Given the description of an element on the screen output the (x, y) to click on. 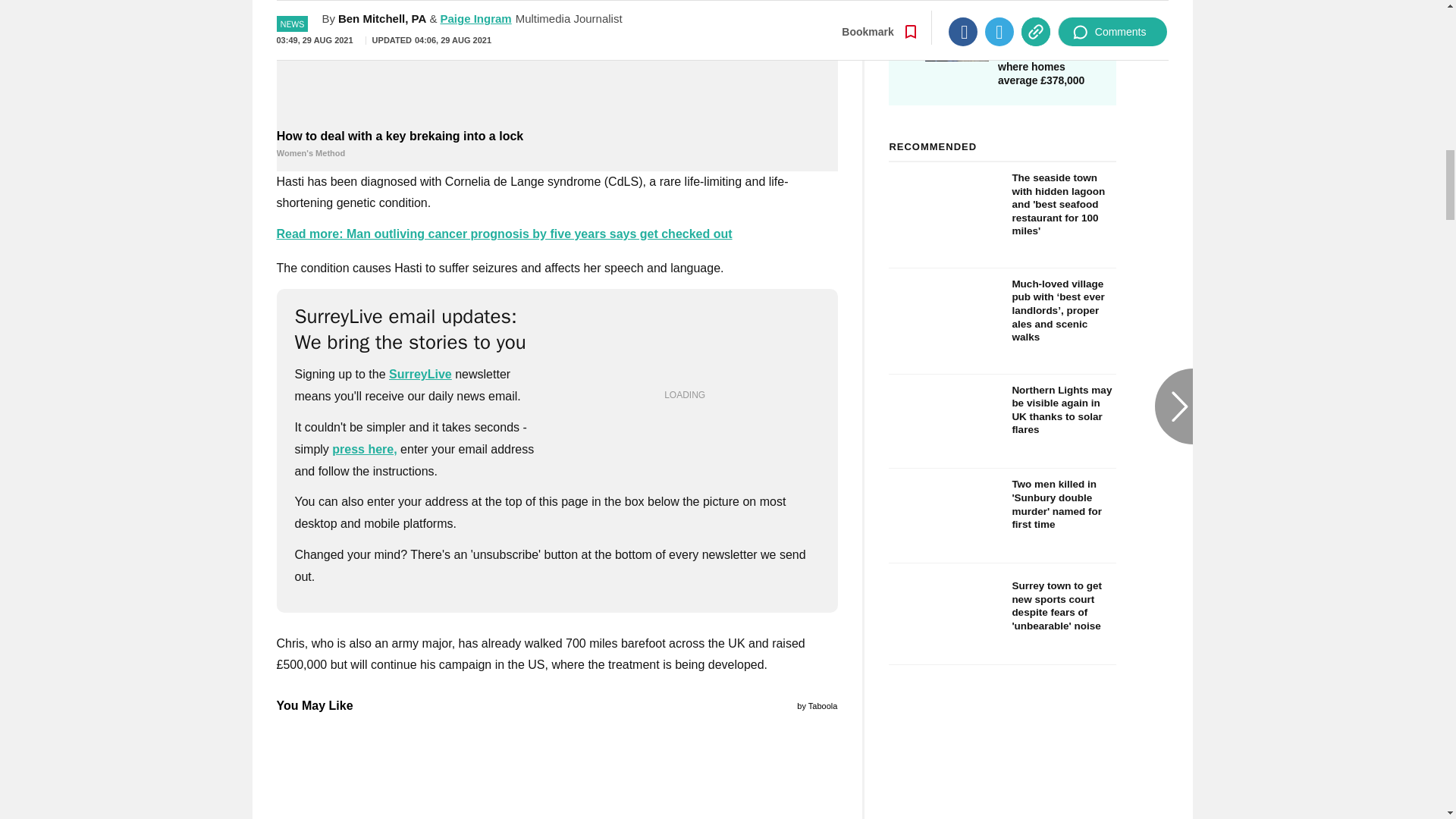
How to deal with a key brekaing into a lock (557, 144)
